Given the description of an element on the screen output the (x, y) to click on. 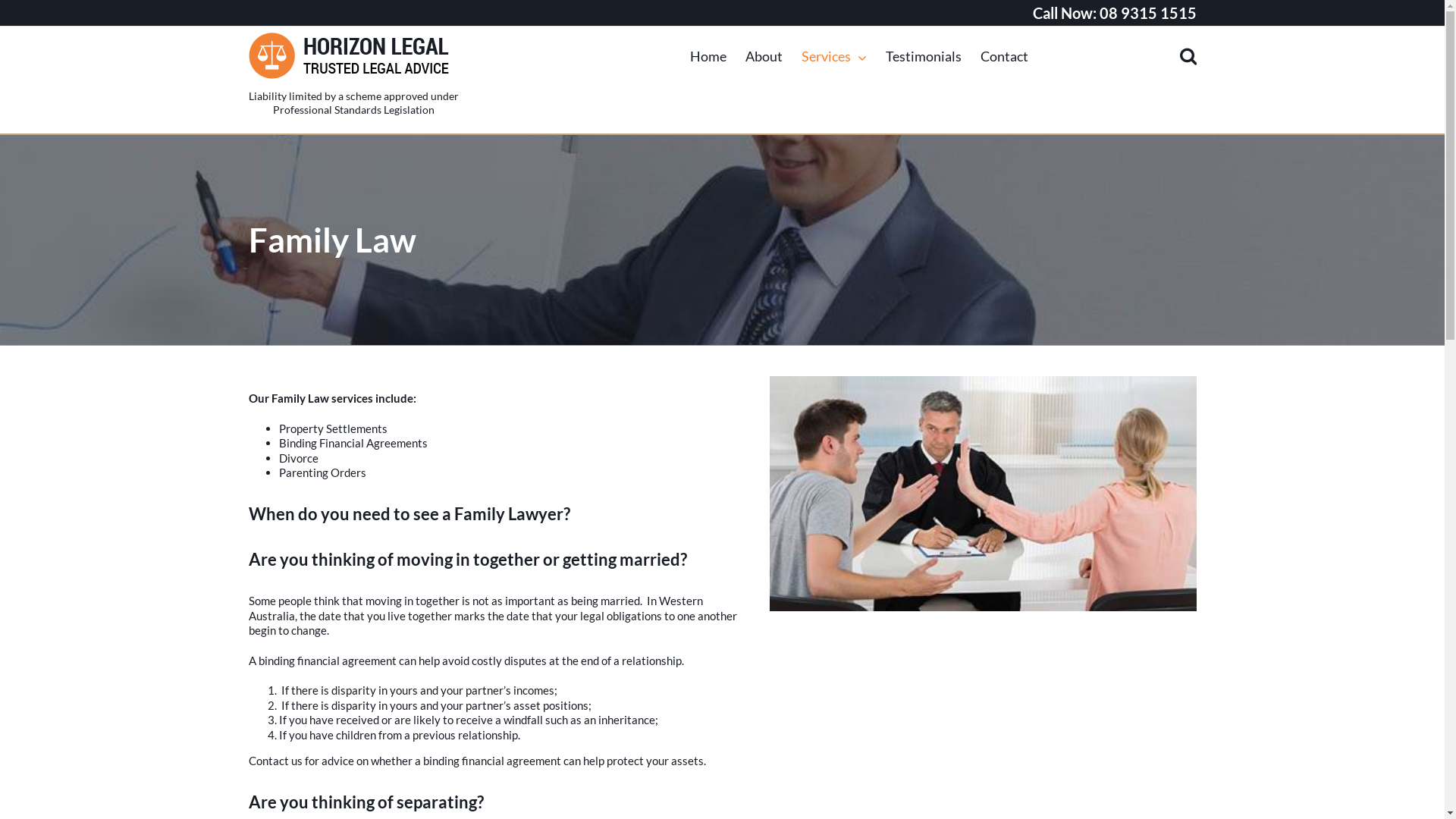
Services Element type: text (833, 55)
Contact Element type: text (1003, 55)
Testimonials Element type: text (923, 55)
About Element type: text (762, 55)
Home Element type: text (708, 55)
Call Now: 08 9315 1515 Element type: text (1114, 12)
